Given the description of an element on the screen output the (x, y) to click on. 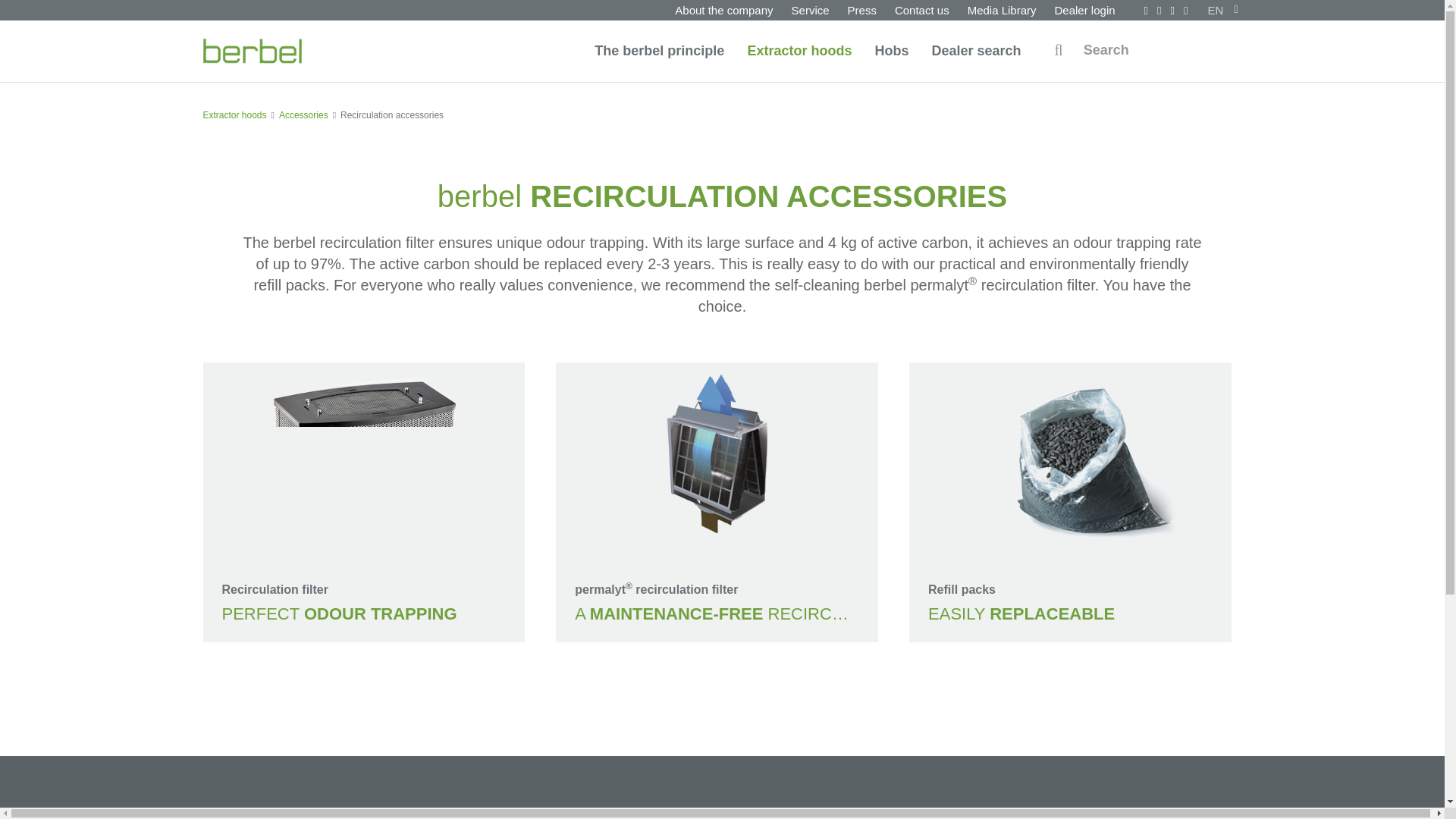
About the company (723, 10)
Media Library (1001, 10)
Extractor hoods (799, 50)
Contact us (921, 10)
Extractor hoods (799, 50)
Media Library (1001, 10)
Dealer login (1084, 10)
Press (861, 10)
Service (810, 10)
The berbel principle (659, 50)
The berbel principle (659, 50)
